Given the description of an element on the screen output the (x, y) to click on. 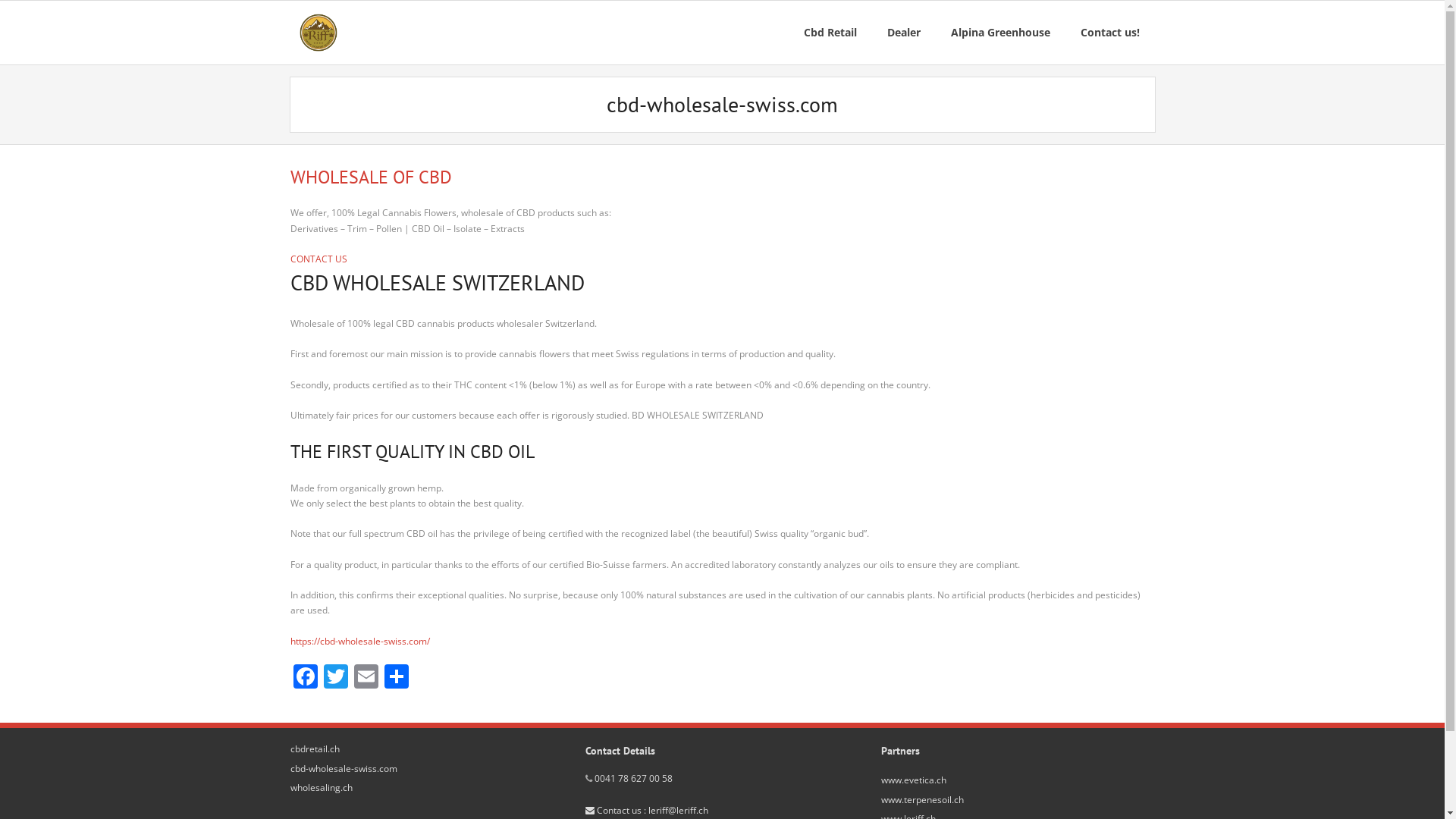
WHOLESALE OF CBD Element type: text (370, 176)
cbdretail.ch Element type: text (313, 749)
www.evetica.ch Element type: text (913, 780)
Dealer Element type: text (903, 32)
cbd-wholesale-swiss.com Element type: text (342, 768)
CONTACT US Element type: text (317, 258)
0041 78 627 00 58 Element type: text (633, 777)
https://cbd-wholesale-swiss.com/ Element type: text (359, 640)
wholesaling.ch Element type: text (320, 787)
Contact us! Element type: text (1109, 32)
Alpina Greenhouse Element type: text (1000, 32)
Contact us : leriff@leriff.ch Element type: text (646, 809)
Share Element type: text (395, 677)
Cbd Retail Element type: text (830, 32)
Facebook Element type: text (304, 677)
Twitter Element type: text (335, 677)
Email Element type: text (365, 677)
www.terpenesoil.ch Element type: text (922, 799)
